Given the description of an element on the screen output the (x, y) to click on. 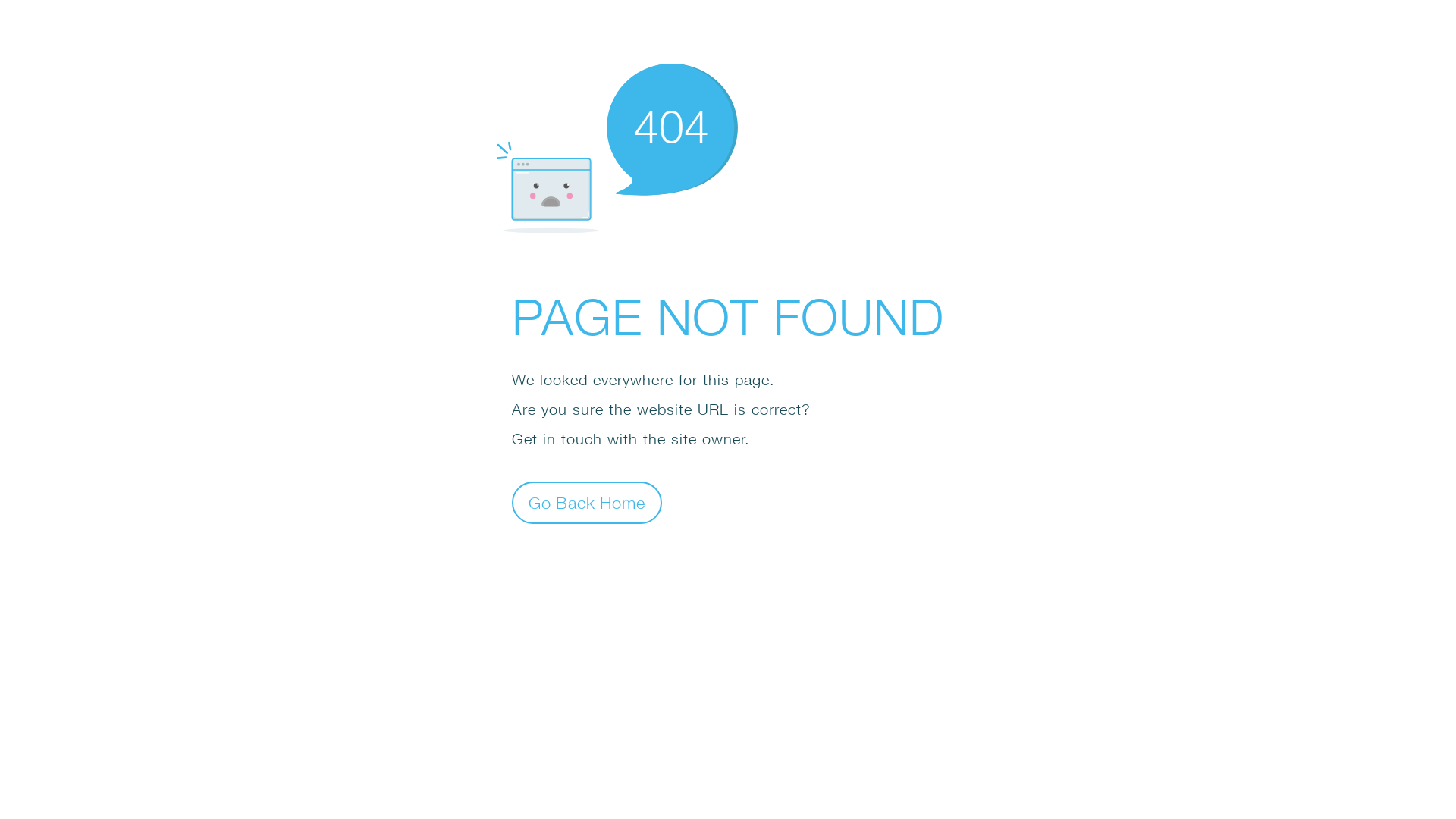
Go Back Home Element type: text (586, 502)
